Given the description of an element on the screen output the (x, y) to click on. 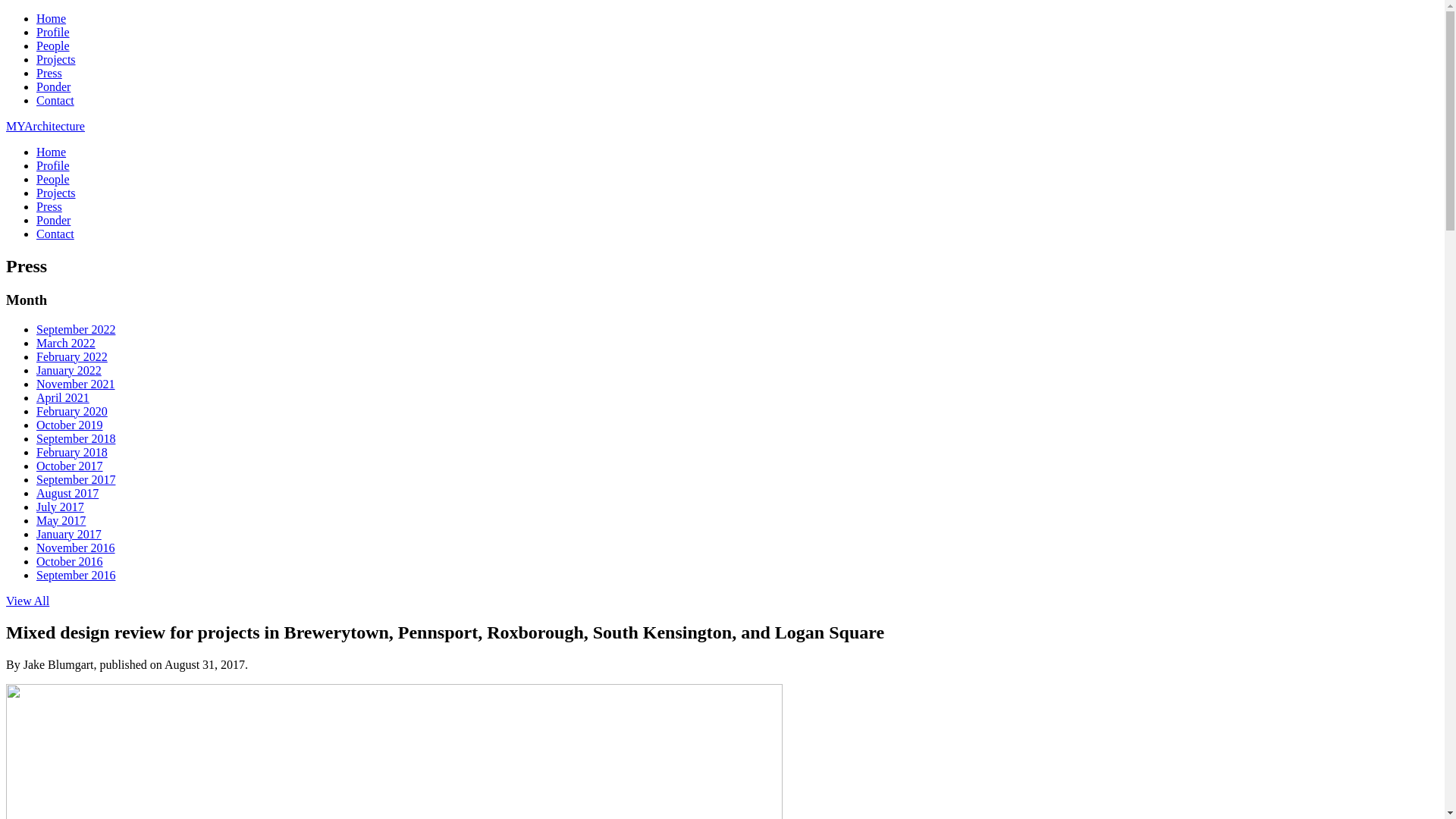
May 2017 Element type: text (60, 520)
March 2022 Element type: text (65, 342)
August 2017 Element type: text (67, 492)
Contact Element type: text (55, 233)
September 2022 Element type: text (75, 329)
November 2021 Element type: text (75, 383)
View All Element type: text (27, 600)
July 2017 Element type: text (60, 506)
October 2016 Element type: text (69, 561)
Press Element type: text (49, 72)
February 2022 Element type: text (71, 356)
Home Element type: text (50, 18)
Projects Element type: text (55, 59)
Profile Element type: text (52, 165)
September 2017 Element type: text (75, 479)
Home Element type: text (50, 151)
People Element type: text (52, 45)
Profile Element type: text (52, 31)
September 2018 Element type: text (75, 438)
January 2017 Element type: text (68, 533)
February 2018 Element type: text (71, 451)
April 2021 Element type: text (62, 397)
September 2016 Element type: text (75, 574)
February 2020 Element type: text (71, 410)
October 2019 Element type: text (69, 424)
October 2017 Element type: text (69, 465)
MYArchitecture Element type: text (45, 125)
Contact Element type: text (55, 100)
Ponder Element type: text (53, 219)
Press Element type: text (49, 206)
People Element type: text (52, 178)
Projects Element type: text (55, 192)
November 2016 Element type: text (75, 547)
Ponder Element type: text (53, 86)
January 2022 Element type: text (68, 370)
